Given the description of an element on the screen output the (x, y) to click on. 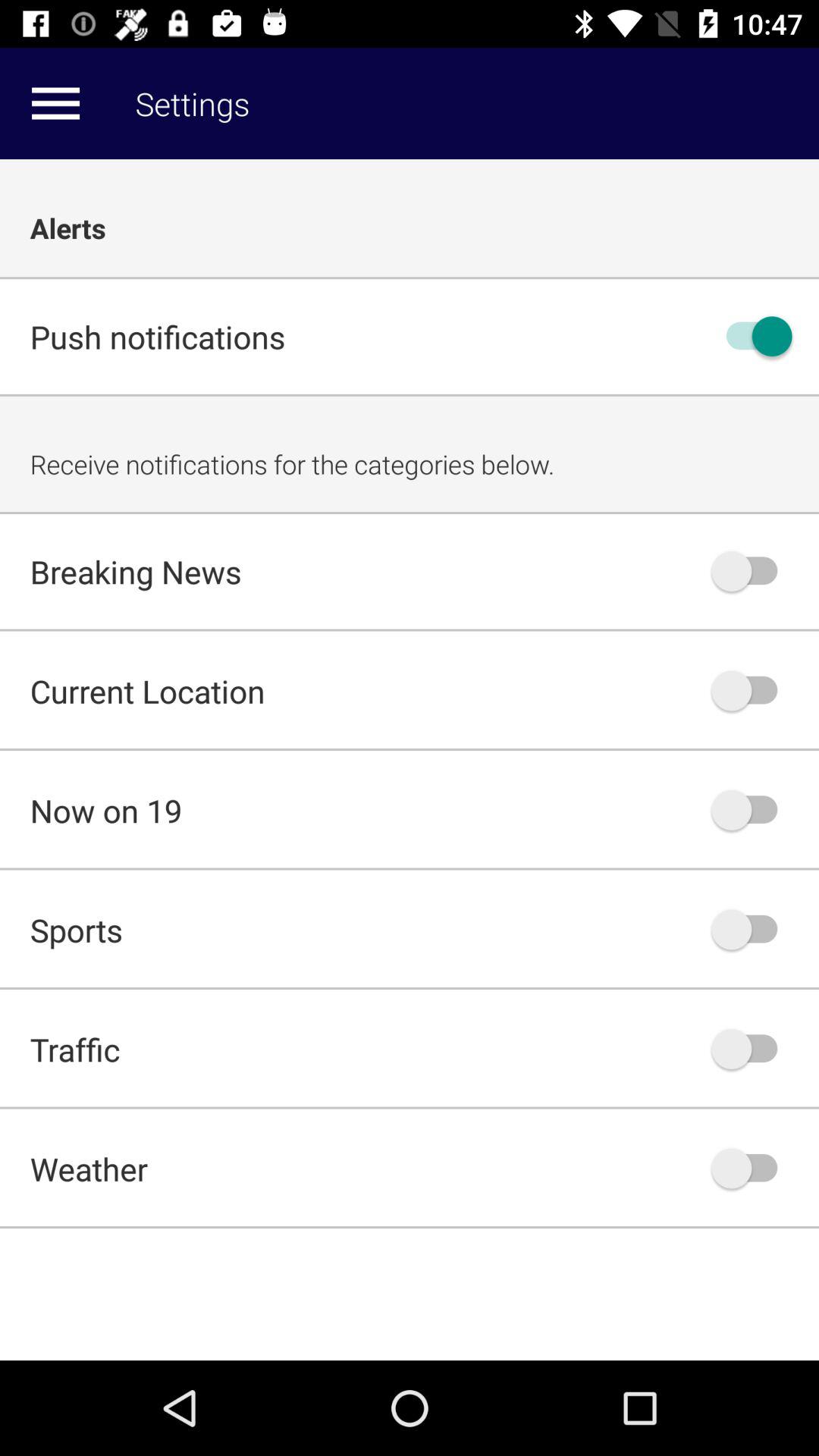
toggle breaking news (751, 571)
